Given the description of an element on the screen output the (x, y) to click on. 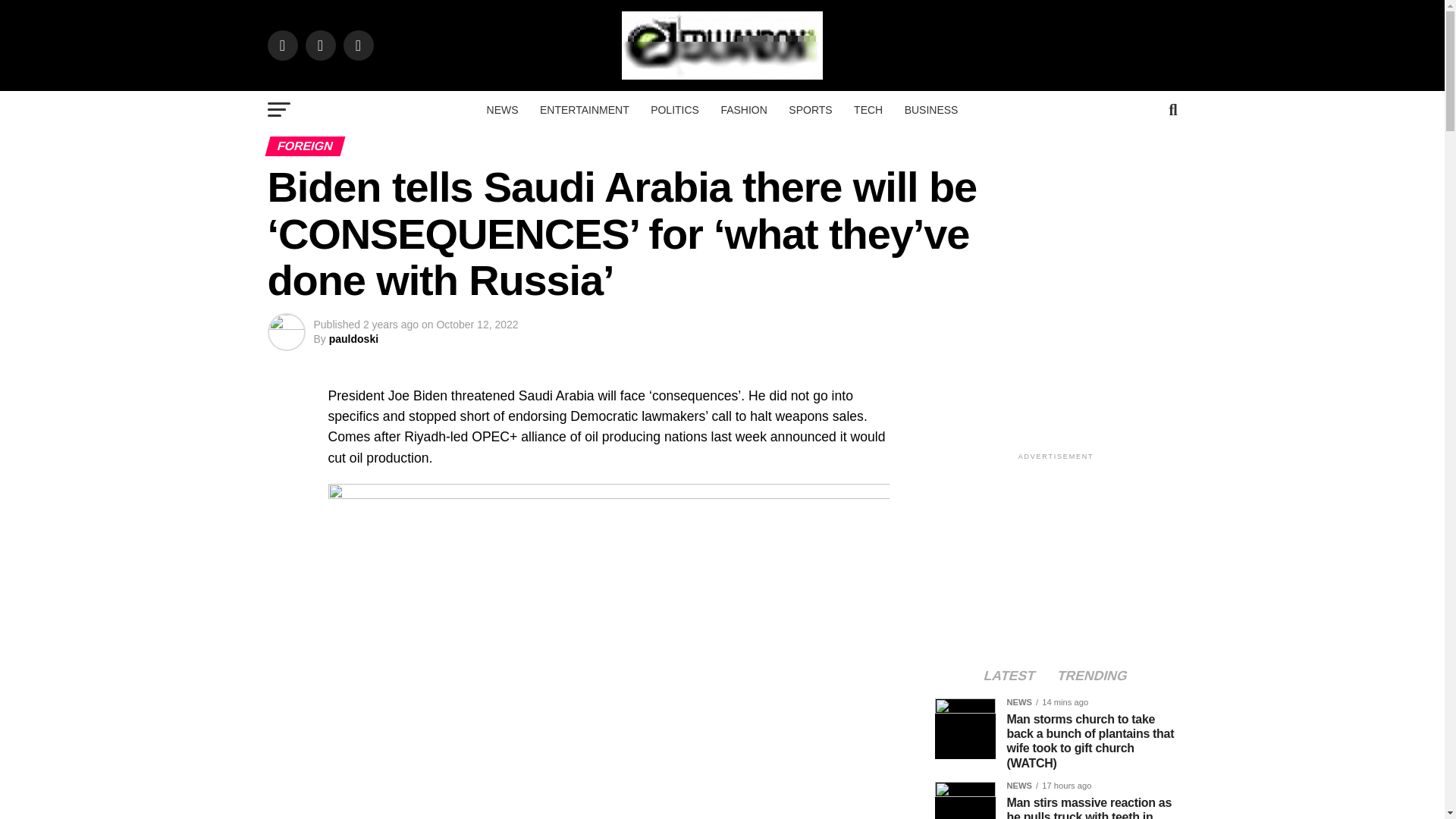
FASHION (743, 109)
ENTERTAINMENT (585, 109)
Posts by pauldoski (353, 338)
NEWS (502, 109)
POLITICS (674, 109)
